Given the description of an element on the screen output the (x, y) to click on. 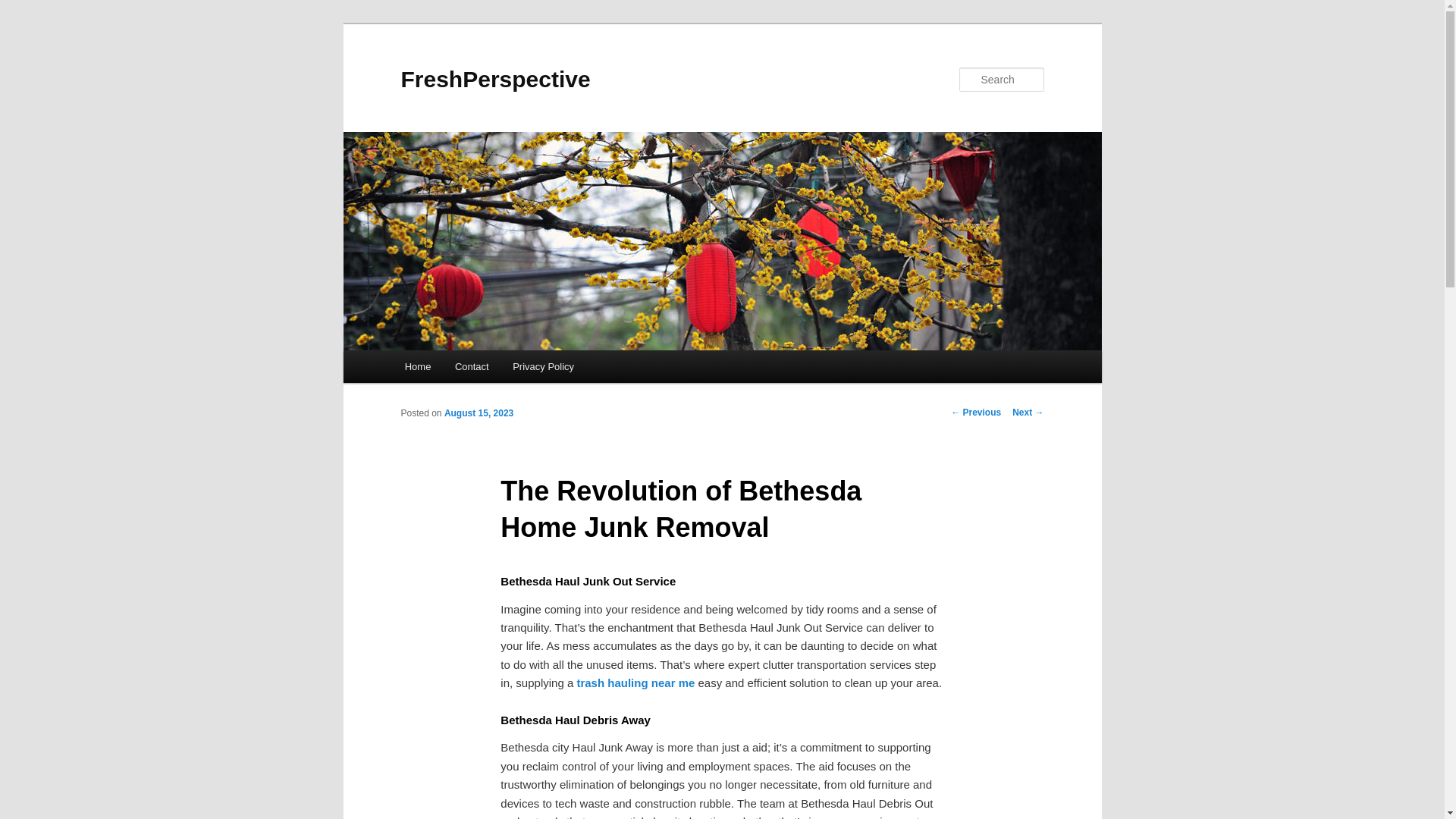
Search (24, 8)
Contact (471, 366)
trash hauling near me (635, 682)
Home (417, 366)
August 15, 2023 (478, 412)
3:18 pm (478, 412)
Privacy Policy (542, 366)
FreshPerspective (494, 78)
